Given the description of an element on the screen output the (x, y) to click on. 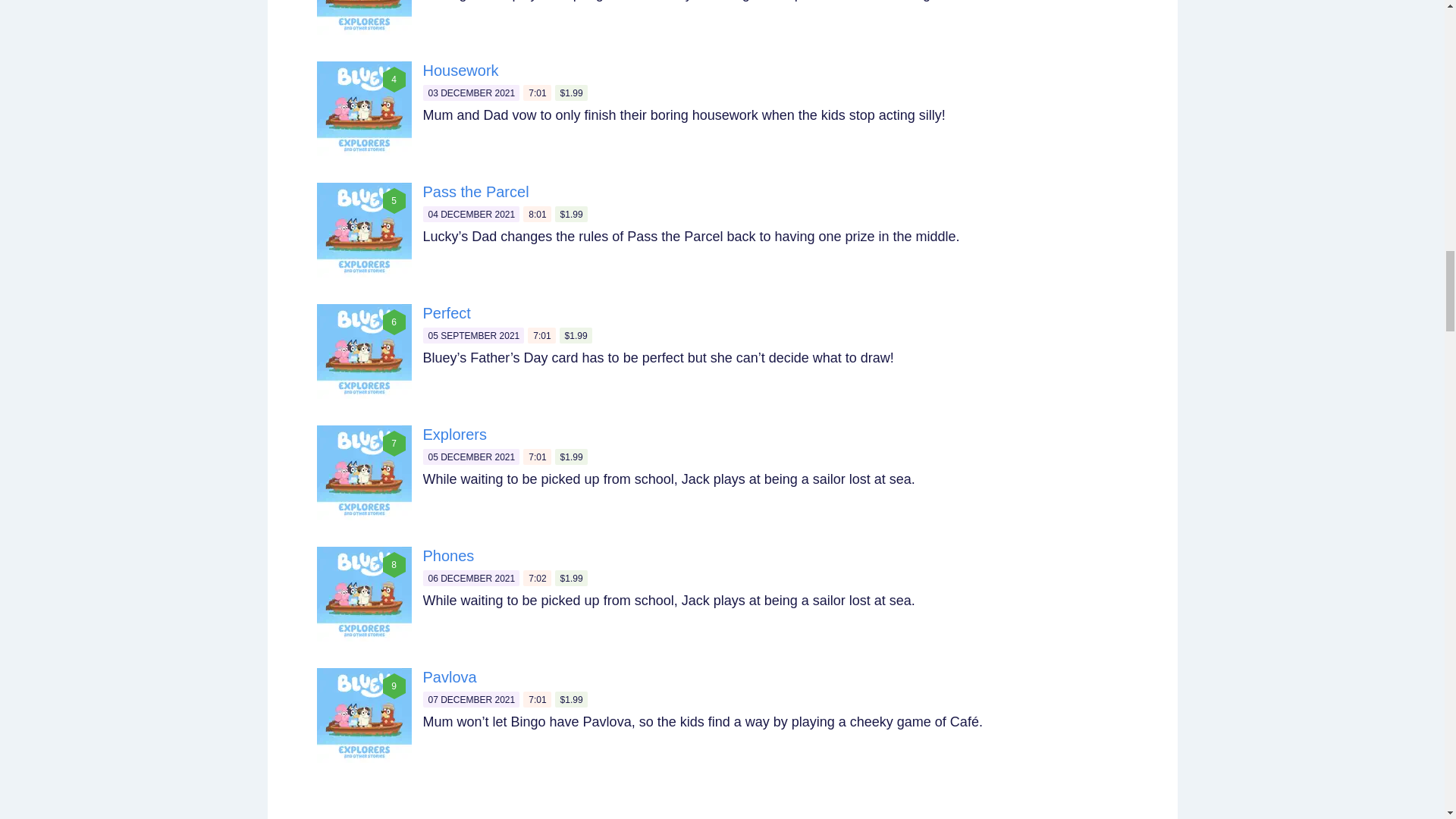
Pavlova (450, 677)
Perfect (446, 312)
Explorers (454, 434)
Pass the Parcel (476, 191)
Housework (461, 70)
Phones (448, 555)
